Given the description of an element on the screen output the (x, y) to click on. 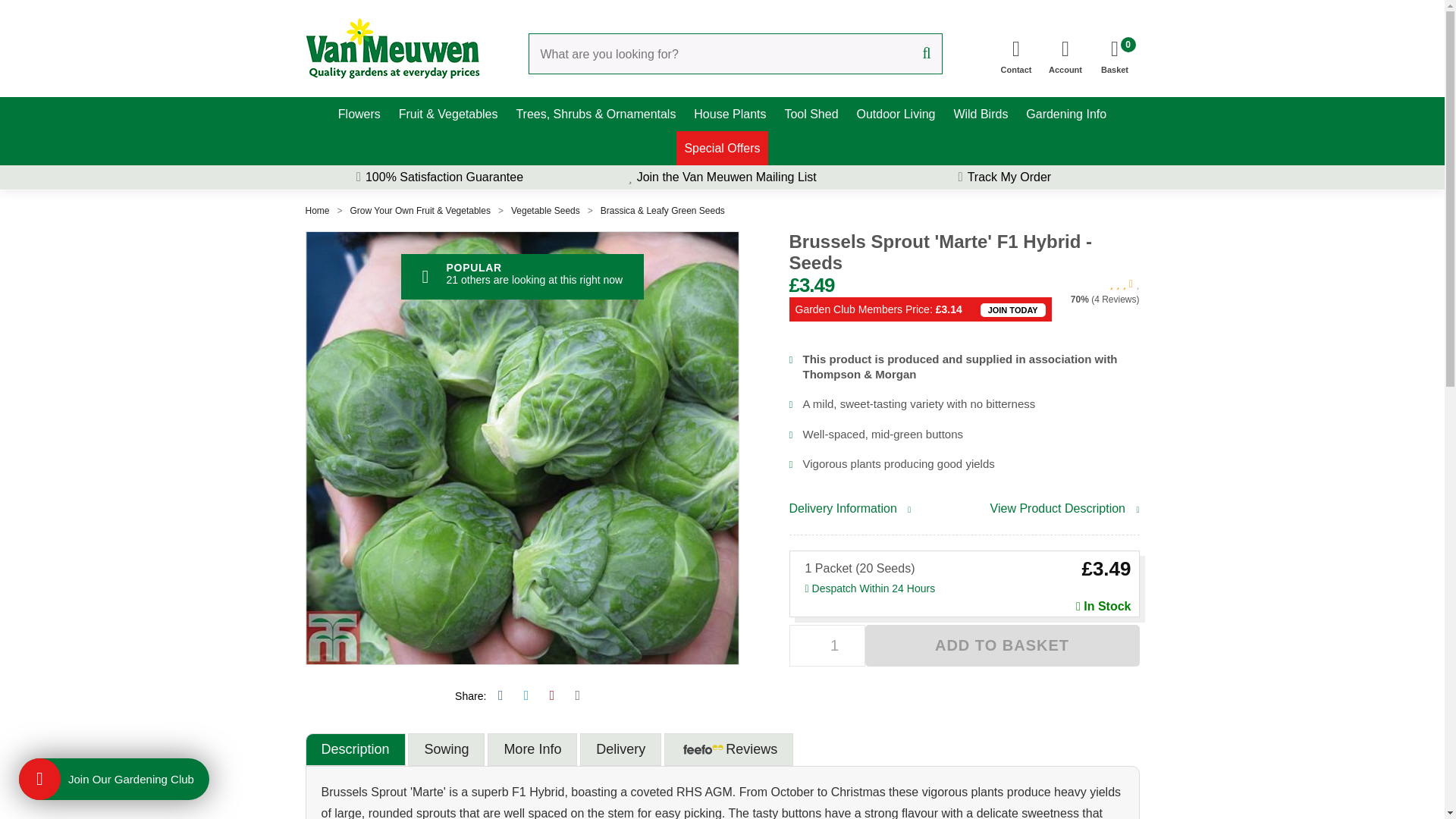
Flowers (359, 114)
Van Meuwen (1115, 52)
Account (391, 48)
Contact (1065, 52)
